Given the description of an element on the screen output the (x, y) to click on. 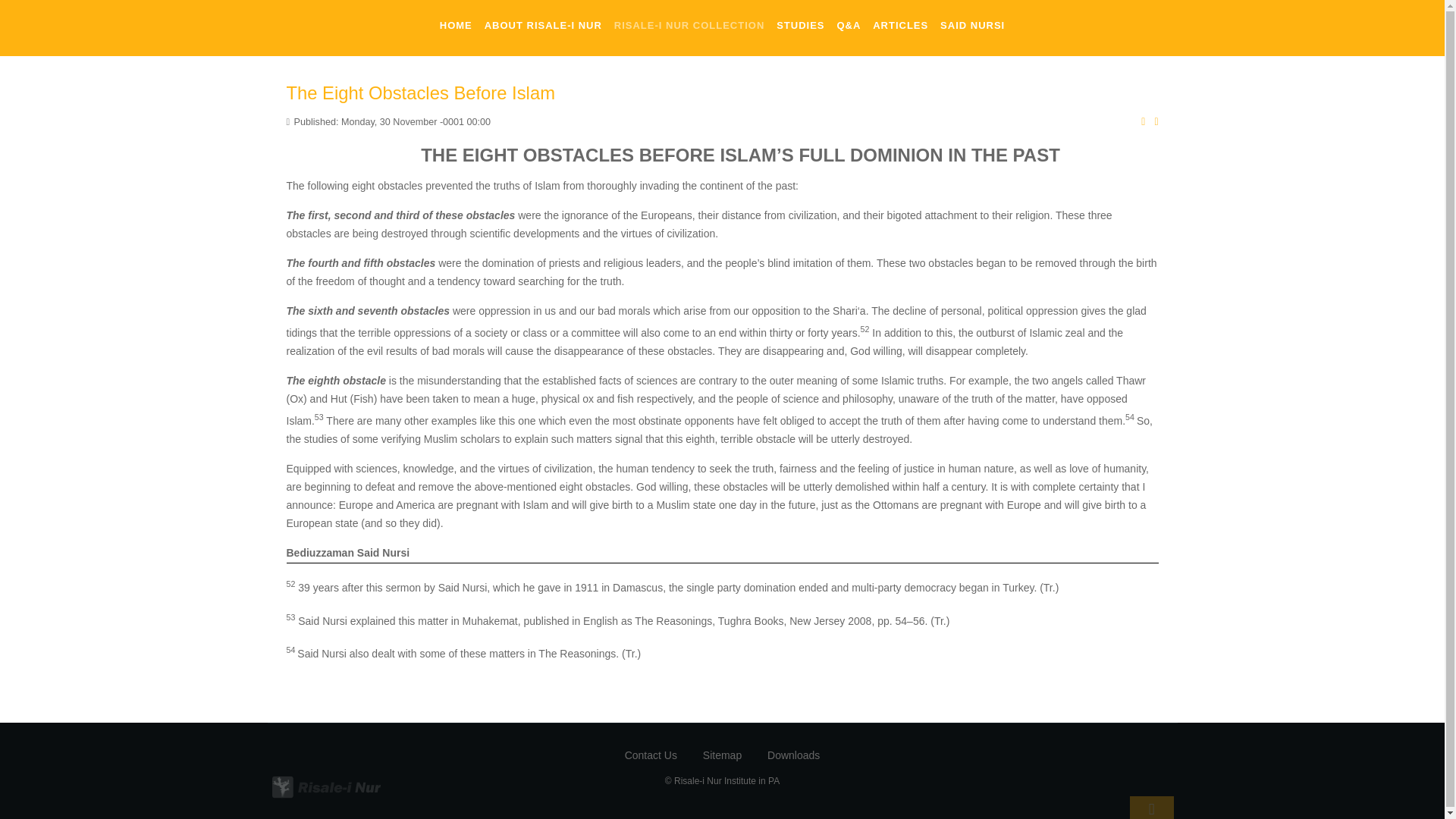
ARTICLES (900, 24)
Downloads (793, 765)
STUDIES (800, 24)
Sitemap (721, 766)
Risale-i Nur (309, 786)
The Eight Obstacles Before Islam (420, 92)
RISALE-I NUR COLLECTION (689, 24)
SAID NURSI (972, 24)
Contact Us (650, 768)
ABOUT RISALE-I NUR (542, 24)
